Given the description of an element on the screen output the (x, y) to click on. 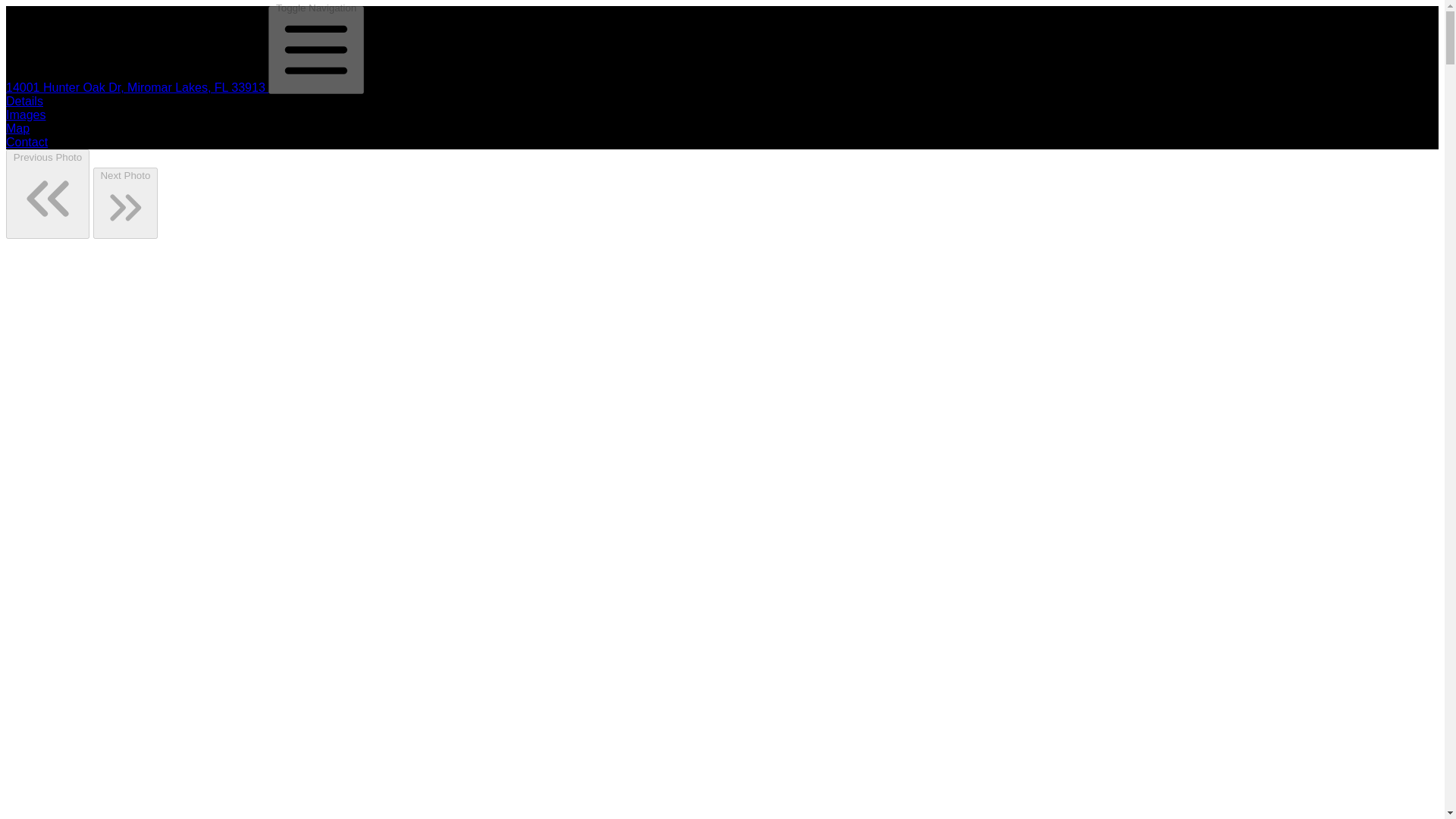
Previous Photo (46, 194)
Toggle Navigation (315, 49)
Next Photo (125, 203)
14001 Hunter Oak Dr, Miromar Lakes, FL 33913 (136, 87)
Images (25, 114)
Back to the Top (136, 87)
Details (24, 101)
Map (17, 128)
Contact (26, 141)
